Given the description of an element on the screen output the (x, y) to click on. 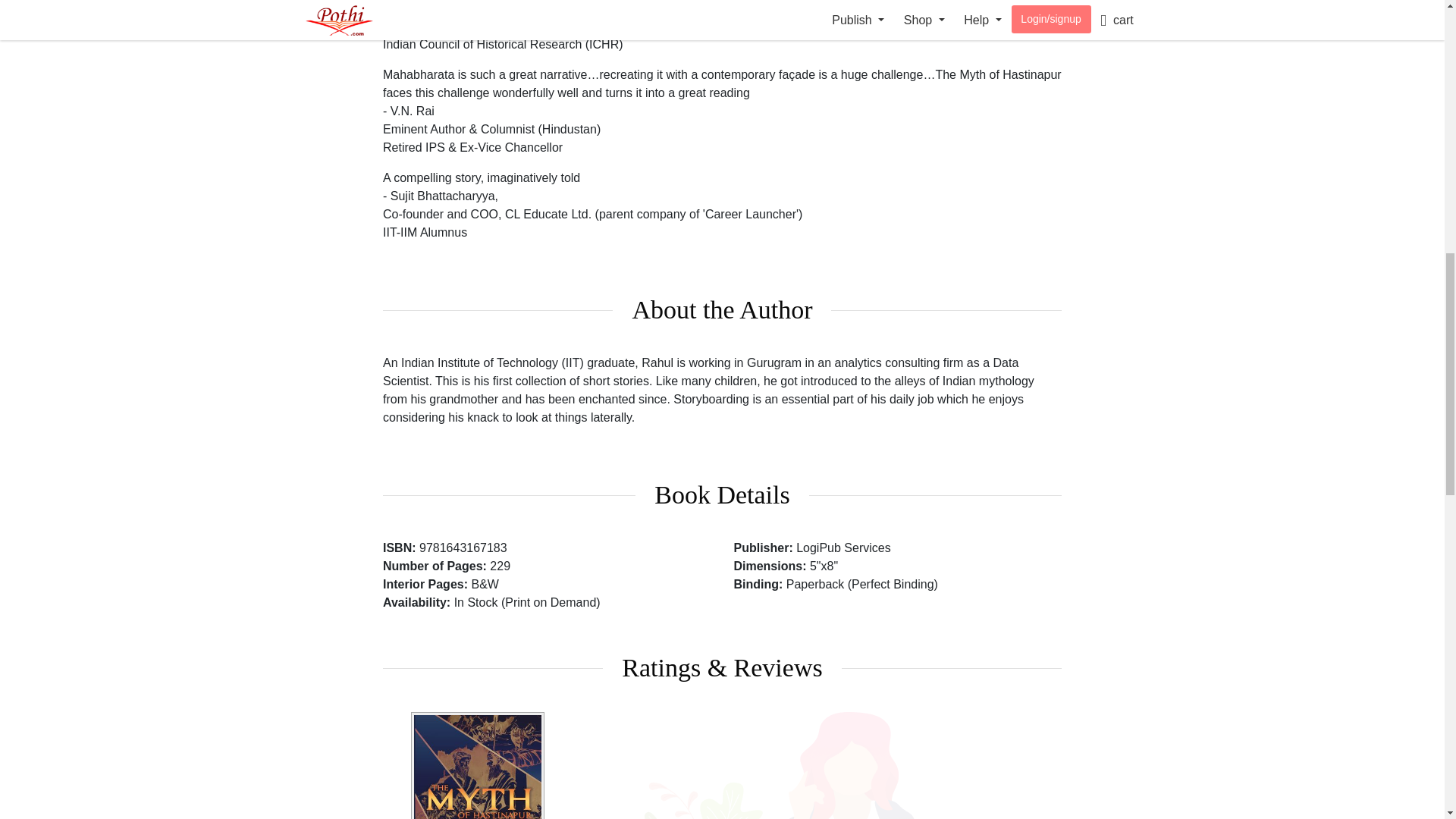
The Myth of Hastinapur (477, 765)
